Given the description of an element on the screen output the (x, y) to click on. 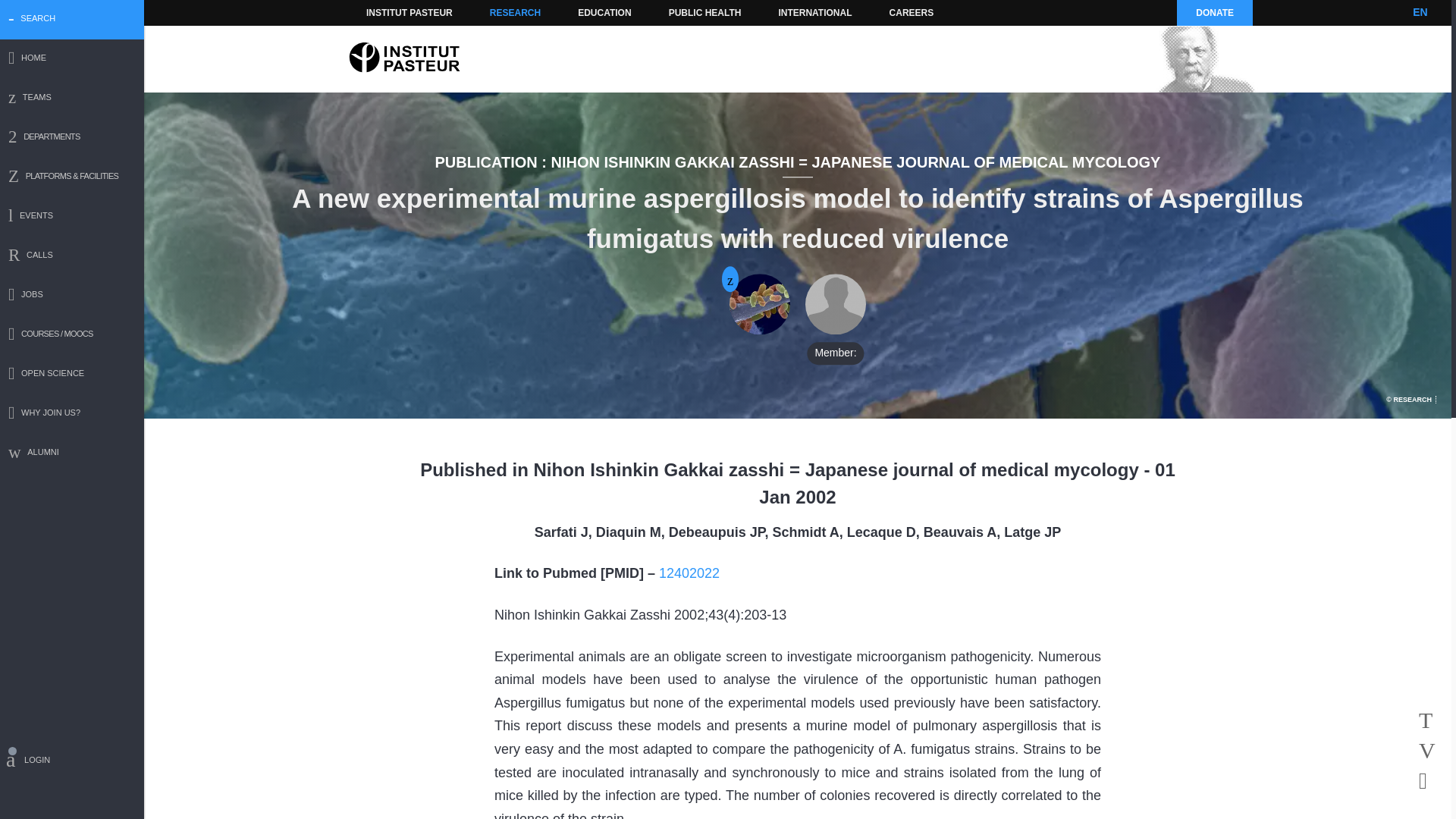
DONATE (1214, 12)
LOGIN (72, 762)
DEPARTMENTS (72, 137)
Member: (835, 304)
CALLS (72, 256)
PUBLIC HEALTH (705, 12)
Skip to content (387, 11)
JOBS (72, 296)
WHY JOIN US? (72, 413)
INSTITUT PASTEUR (409, 12)
